Given the description of an element on the screen output the (x, y) to click on. 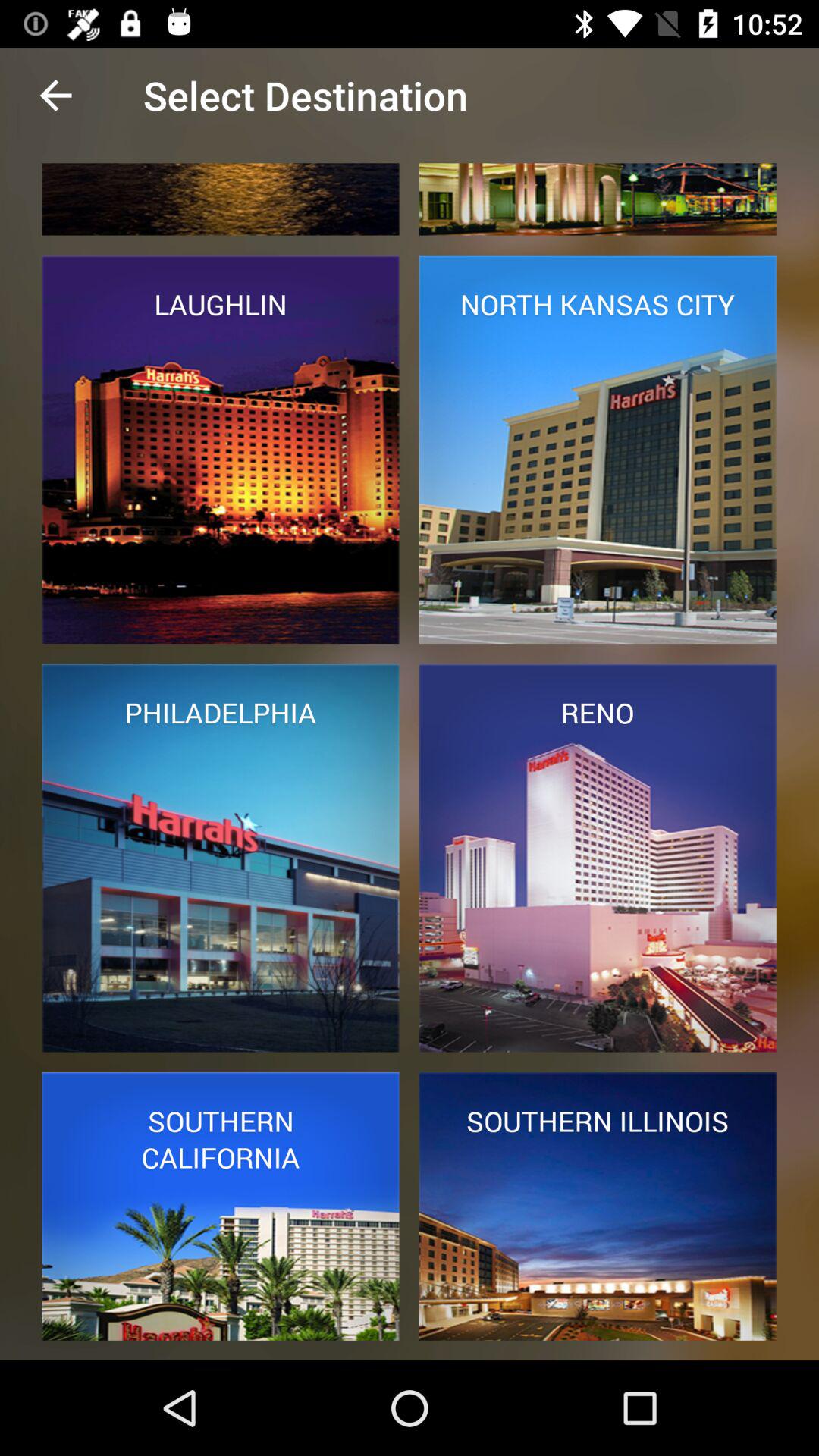
turn off item to the left of select destination (55, 95)
